Given the description of an element on the screen output the (x, y) to click on. 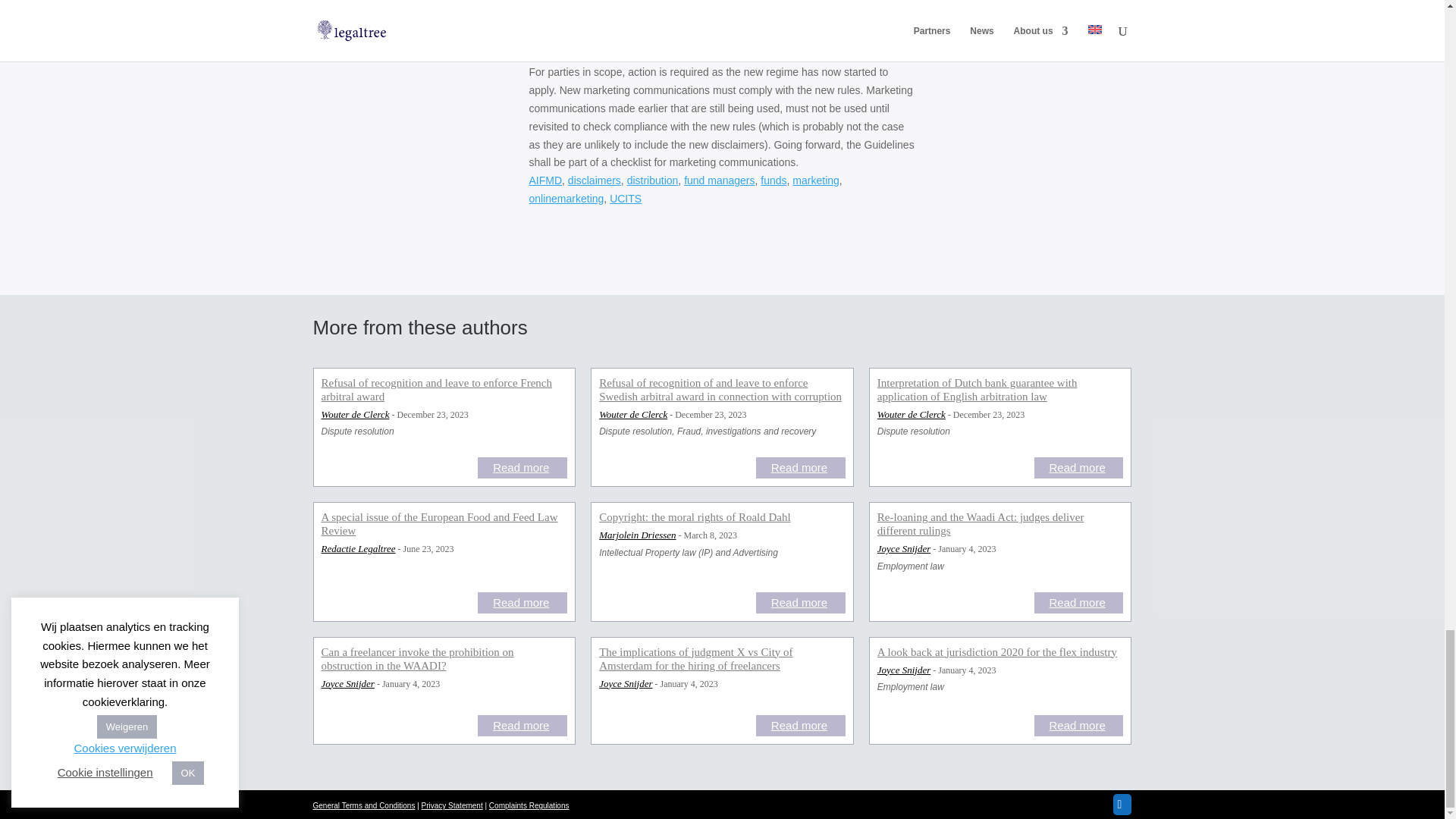
disclaimers (594, 180)
Redactie Legaltree (358, 549)
Read more (800, 467)
marketing (815, 180)
Read more (522, 467)
AIFMD (545, 180)
Wouter de Clerck (355, 416)
onlinemarketing (566, 198)
Copyright: the moral rights of Roald Dahl (721, 518)
A special issue of the European Food and Feed Law Review (444, 525)
fund managers (719, 180)
funds (773, 180)
